Given the description of an element on the screen output the (x, y) to click on. 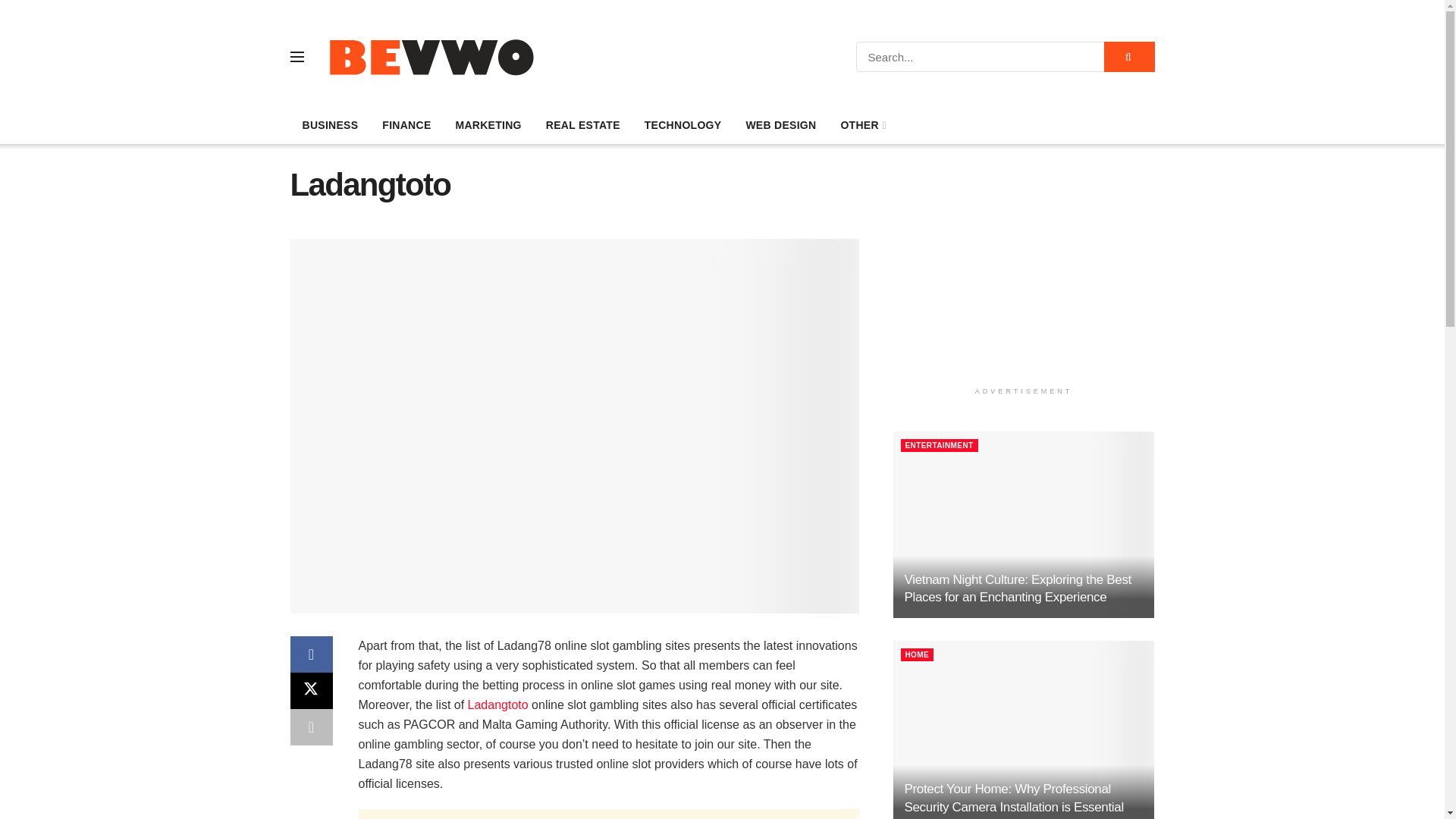
FINANCE (405, 125)
BUSINESS (329, 125)
WEB DESIGN (780, 125)
OTHER (862, 125)
TECHNOLOGY (682, 125)
REAL ESTATE (582, 125)
MARKETING (487, 125)
